Given the description of an element on the screen output the (x, y) to click on. 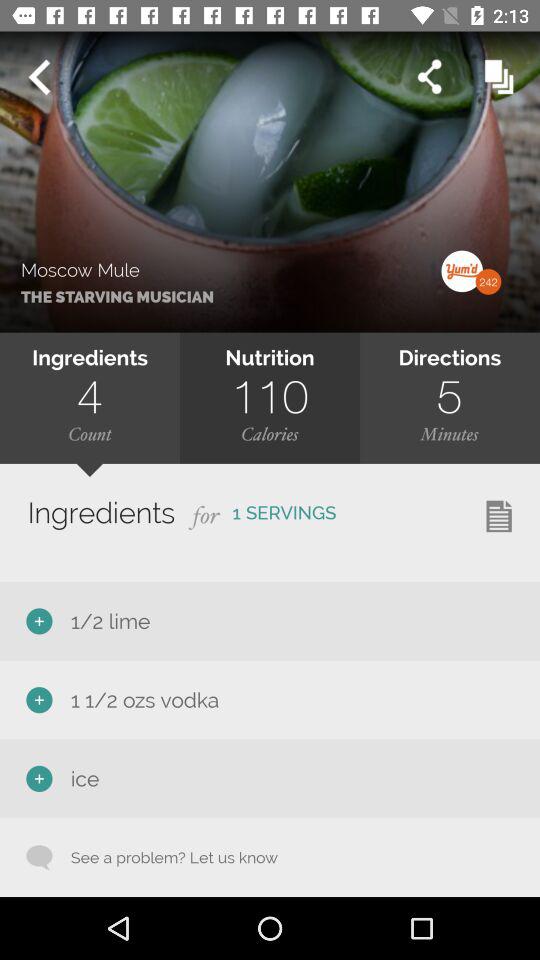
click on the option beside the share icon (499, 76)
